Given the description of an element on the screen output the (x, y) to click on. 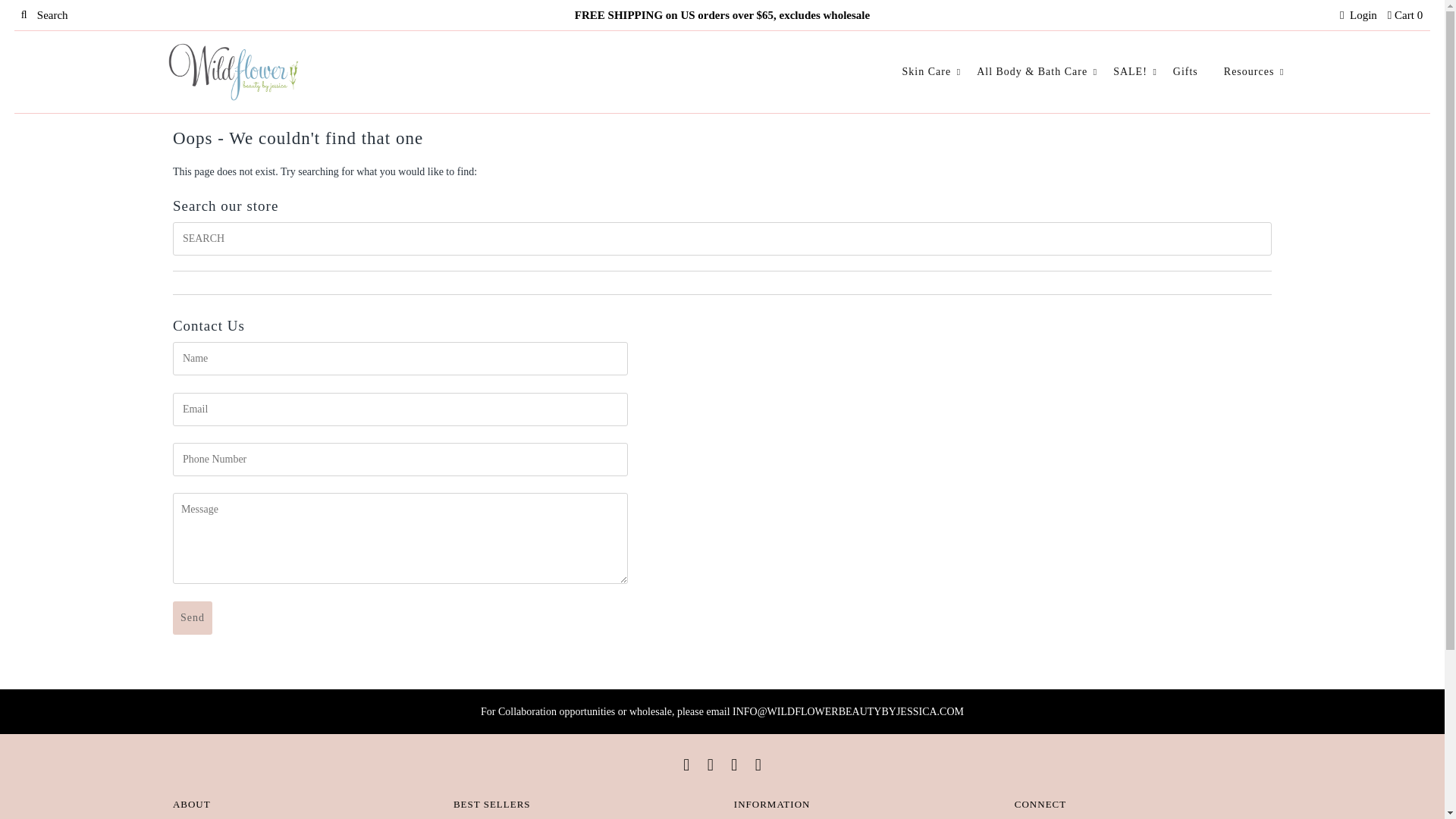
 Cart 0 (1404, 15)
Send (192, 617)
  Login (1358, 15)
